Given the description of an element on the screen output the (x, y) to click on. 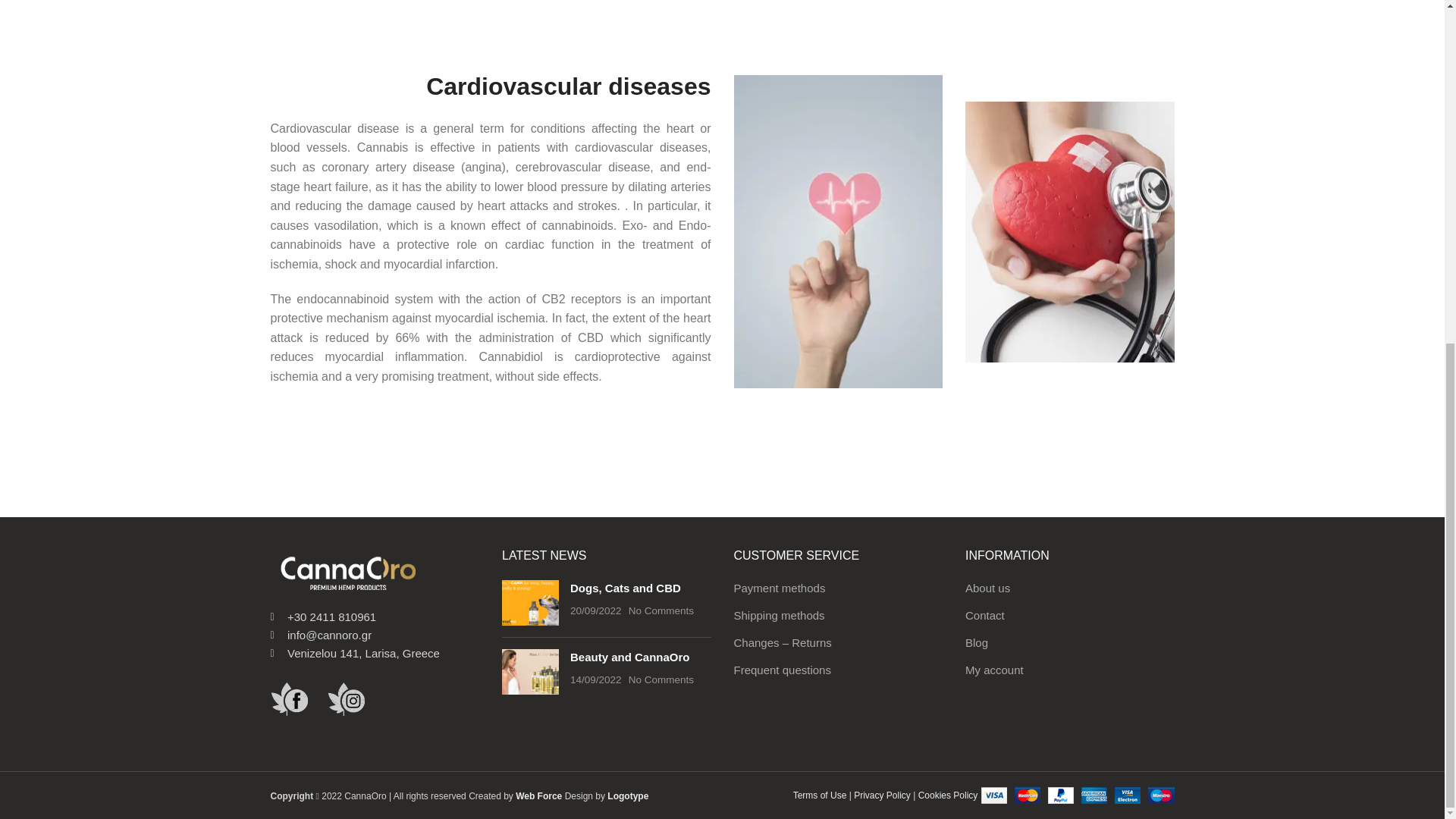
Permalink to Dogs, Cats and CBD (625, 587)
Permalink to Beauty and CannaOro (630, 656)
